Given the description of an element on the screen output the (x, y) to click on. 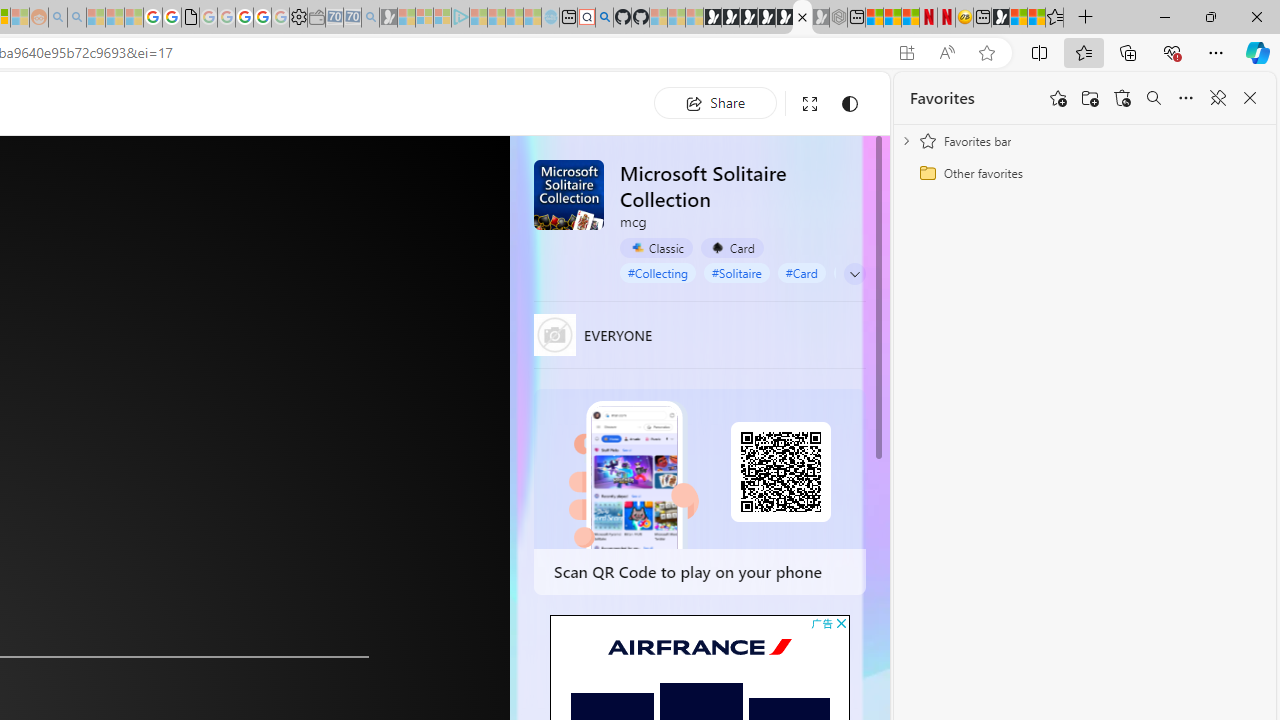
Microsoft account | Privacy - Sleeping (441, 17)
#Single Player (879, 272)
